Given the description of an element on the screen output the (x, y) to click on. 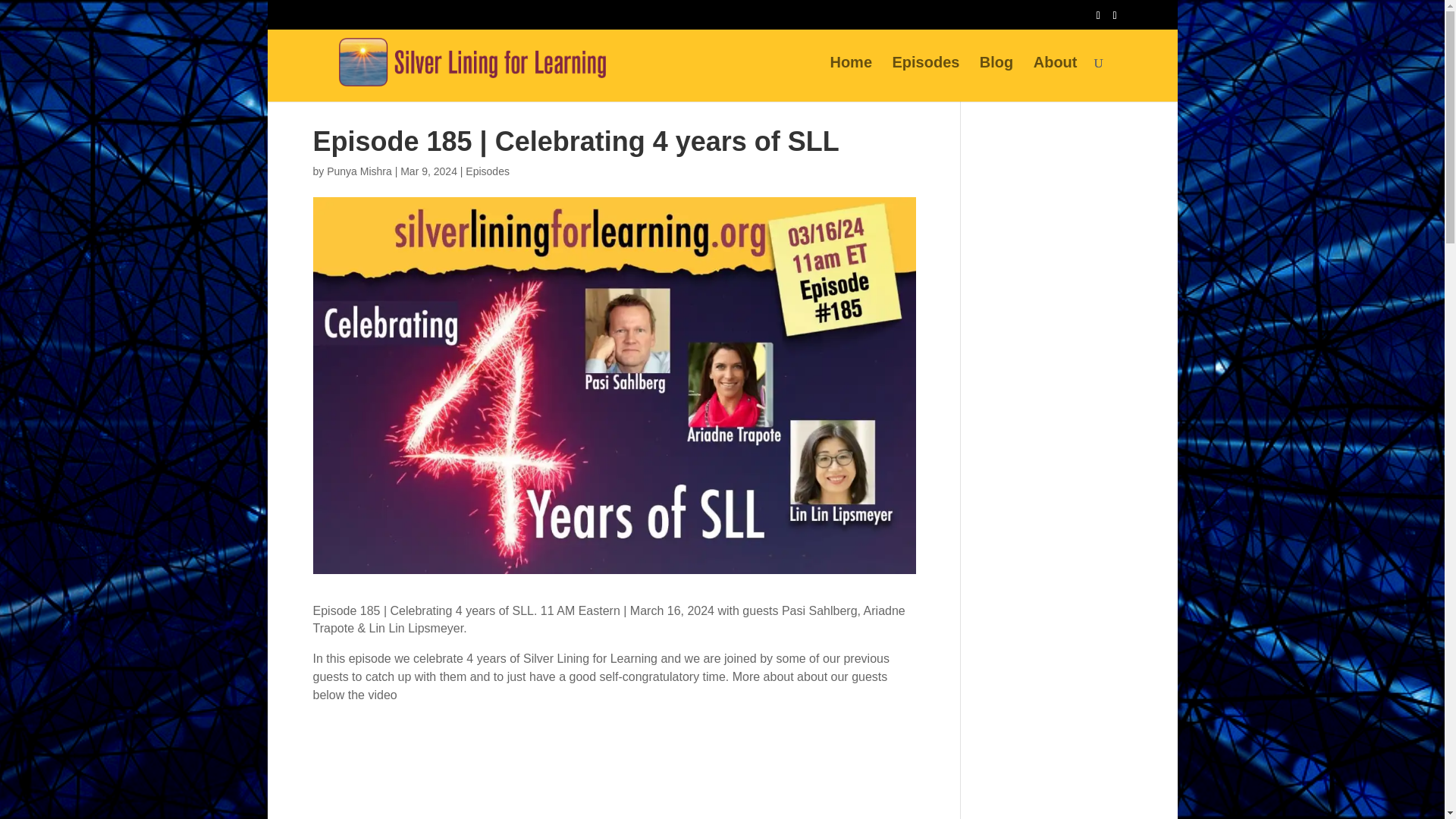
Punya Mishra (358, 171)
Posts by Punya Mishra (358, 171)
Episodes (487, 171)
About (1055, 78)
Home (850, 78)
Episodes (925, 78)
